Given the description of an element on the screen output the (x, y) to click on. 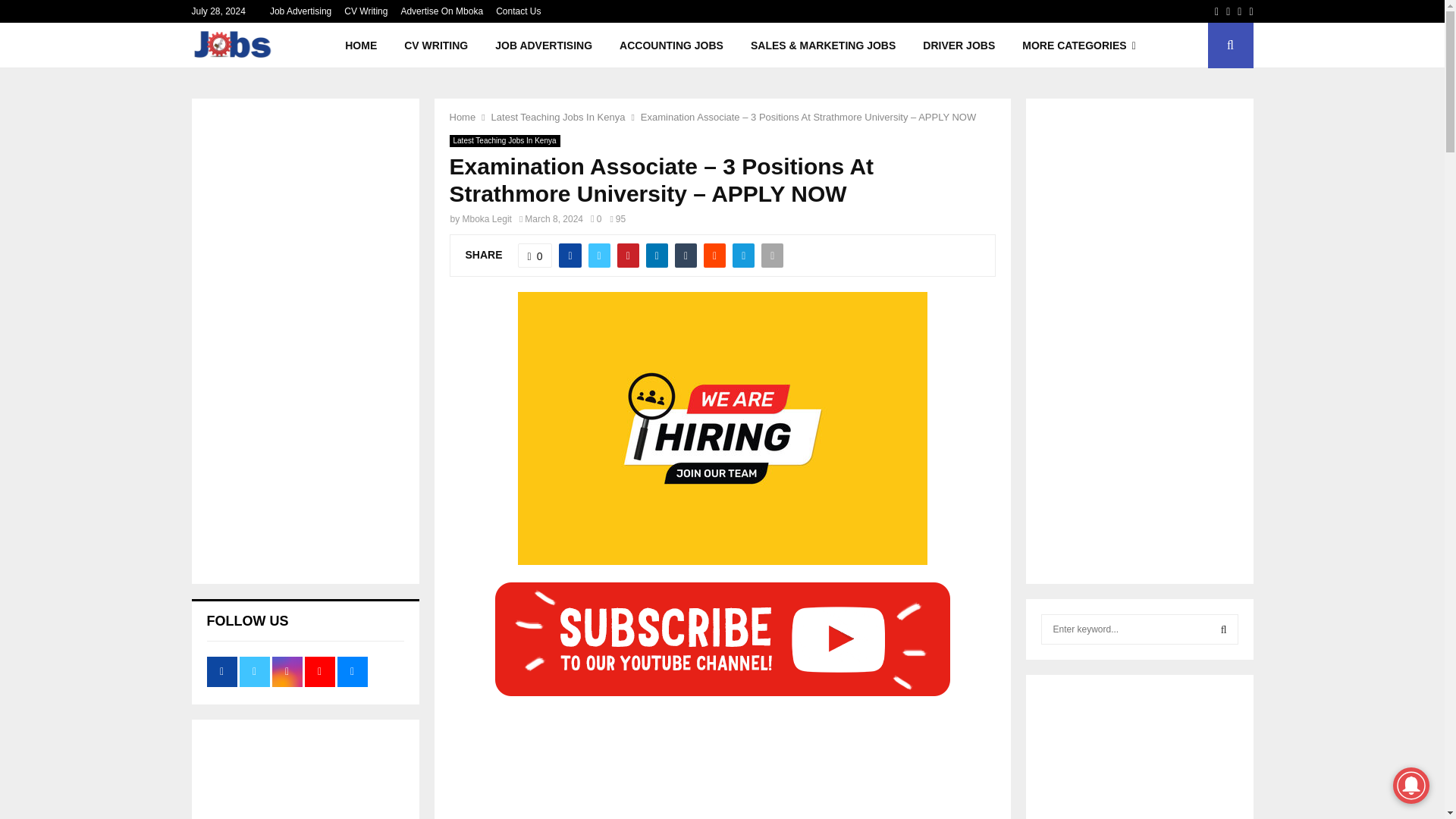
HOME (360, 44)
Contact Us (518, 11)
Job Advertising (300, 11)
Advertise On Mboka (441, 11)
Like (535, 255)
MORE CATEGORIES (1079, 44)
DRIVER JOBS (958, 44)
JOB ADVERTISING (543, 44)
CV WRITING (435, 44)
Advertisement (721, 760)
CV Writing (365, 11)
ACCOUNTING JOBS (670, 44)
